Given the description of an element on the screen output the (x, y) to click on. 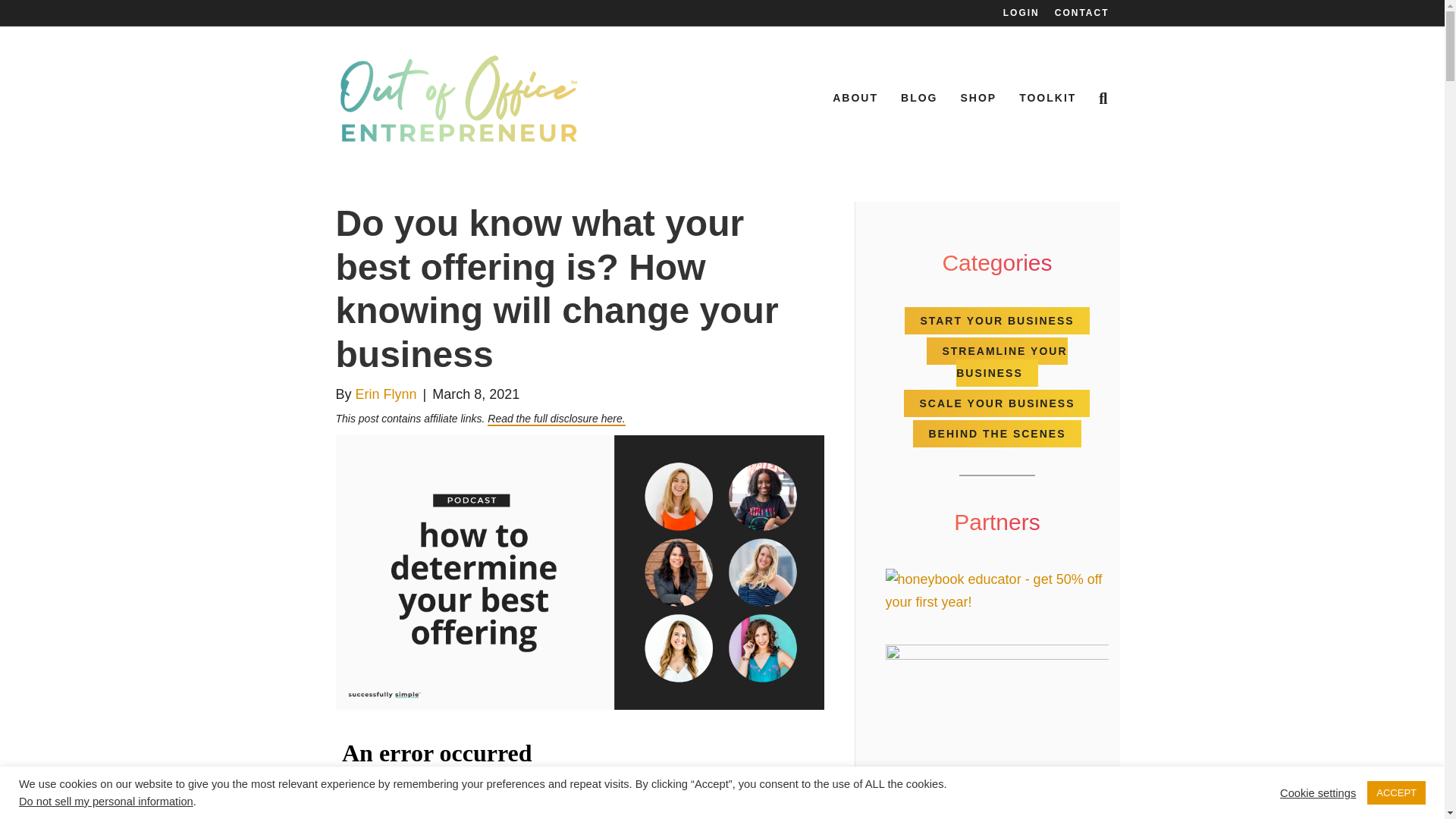
SHOP (978, 98)
Apple Podcasts (592, 810)
CONTACT (1081, 13)
LOGIN (1020, 13)
TOOLKIT (1047, 98)
ABOUT (855, 98)
Read the full disclosure here. (555, 418)
YouTube (507, 810)
Erin Flynn (385, 394)
Stitcher (673, 810)
